Given the description of an element on the screen output the (x, y) to click on. 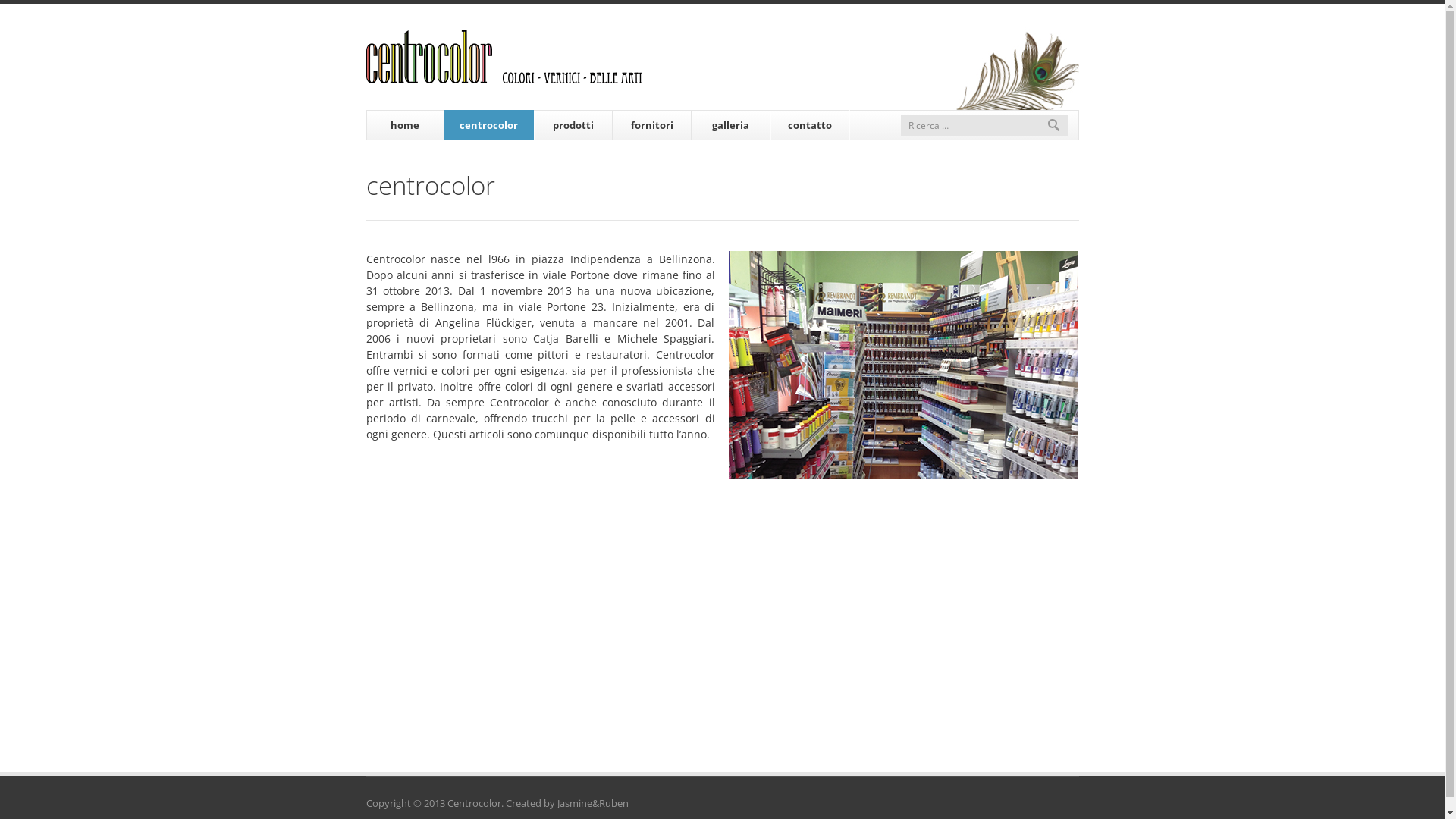
fornitori Element type: text (651, 124)
home Element type: text (404, 124)
centrocolor Element type: text (488, 124)
prodotti Element type: text (572, 124)
galleria Element type: text (730, 124)
contatto Element type: text (809, 124)
Search Element type: text (1053, 124)
